Given the description of an element on the screen output the (x, y) to click on. 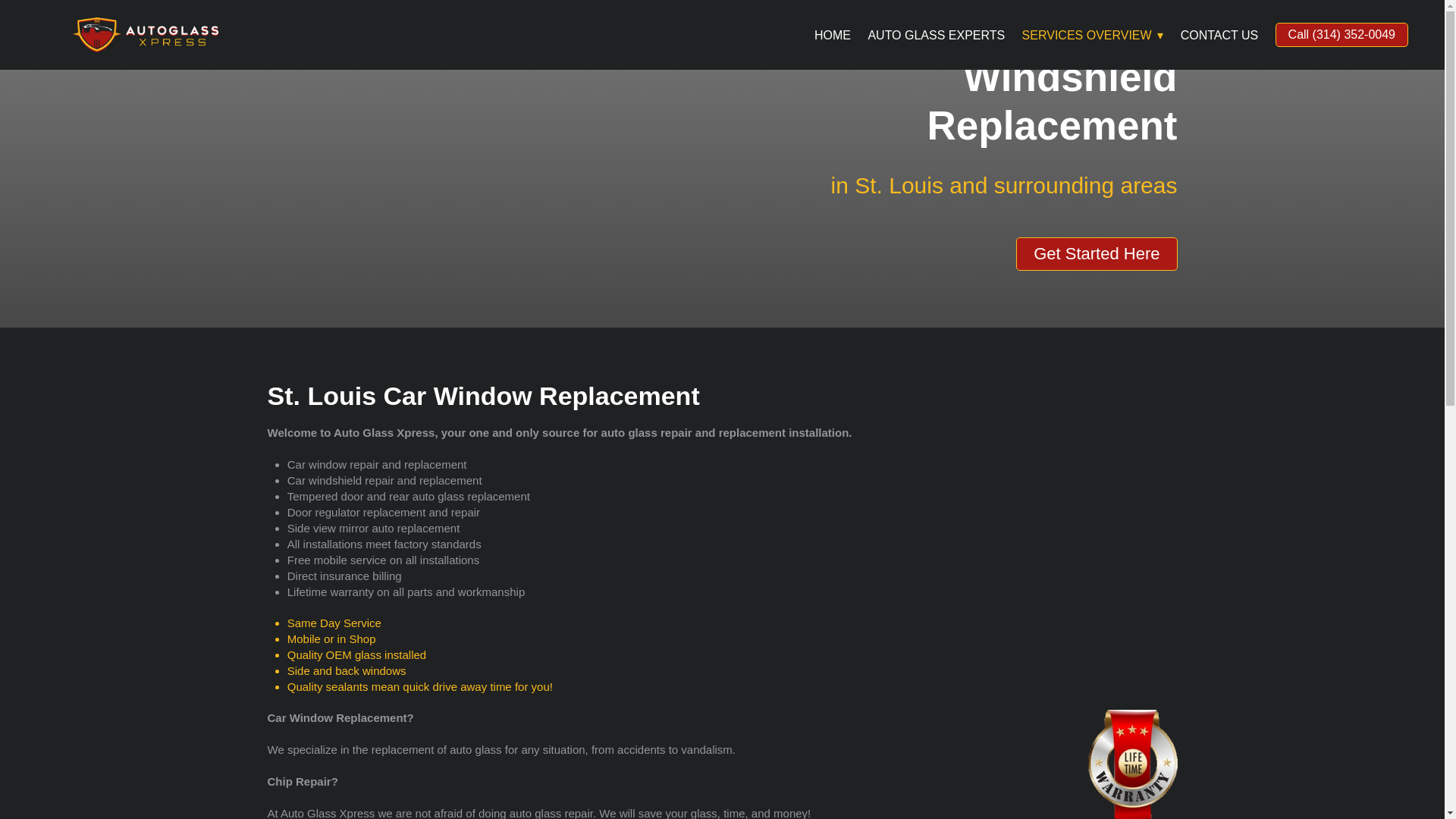
CONTACT US (1219, 35)
HOME (831, 35)
Auto Glass Xpress (145, 34)
Get Started Here (1096, 254)
AUTO GLASS EXPERTS (935, 35)
